Given the description of an element on the screen output the (x, y) to click on. 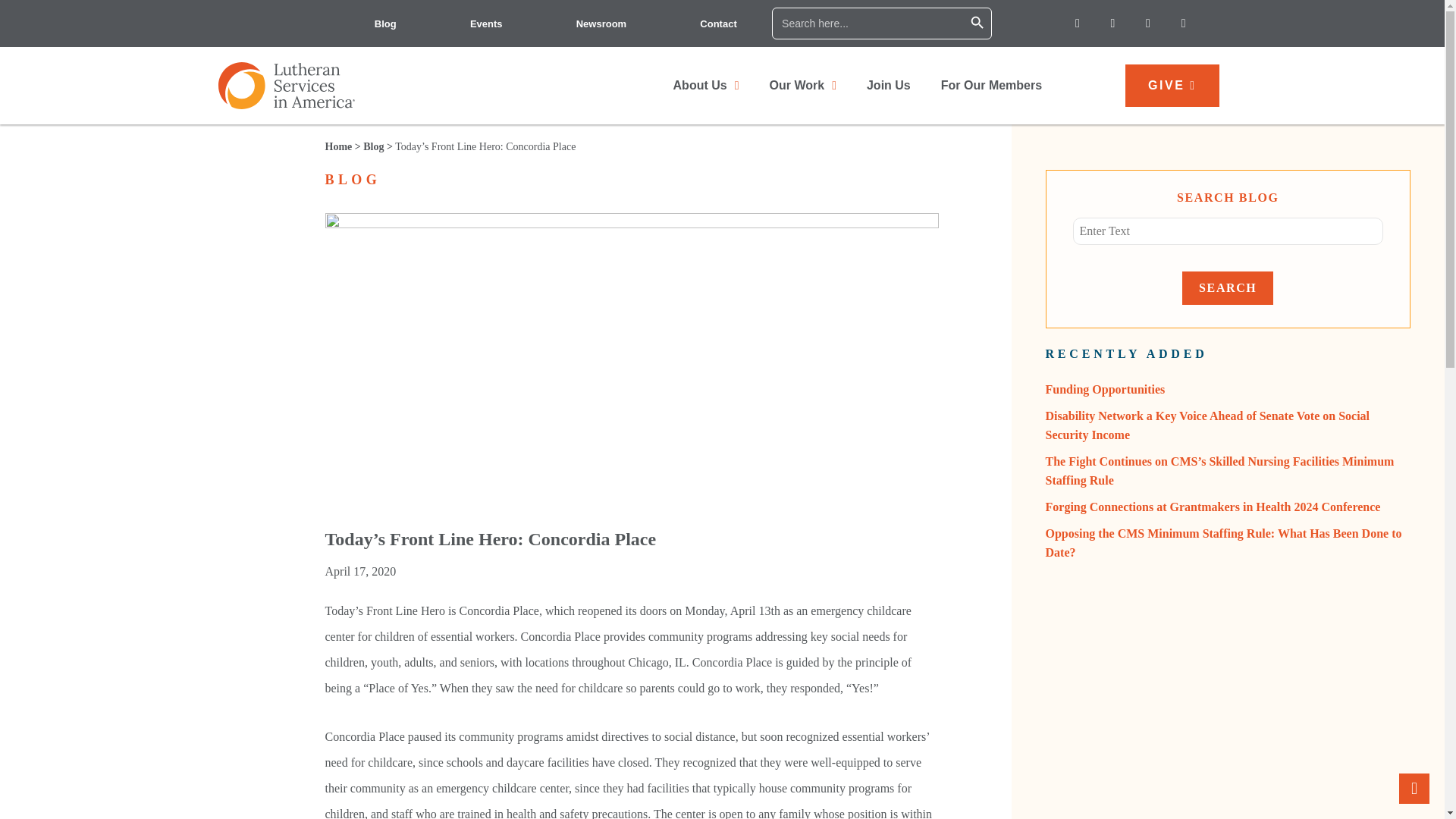
For Our Members (991, 85)
About Us (706, 85)
Join Us (888, 85)
Contact (718, 23)
Blog (385, 23)
Search Button (977, 22)
Events (486, 23)
Our Work (802, 85)
Newsroom (601, 23)
